Given the description of an element on the screen output the (x, y) to click on. 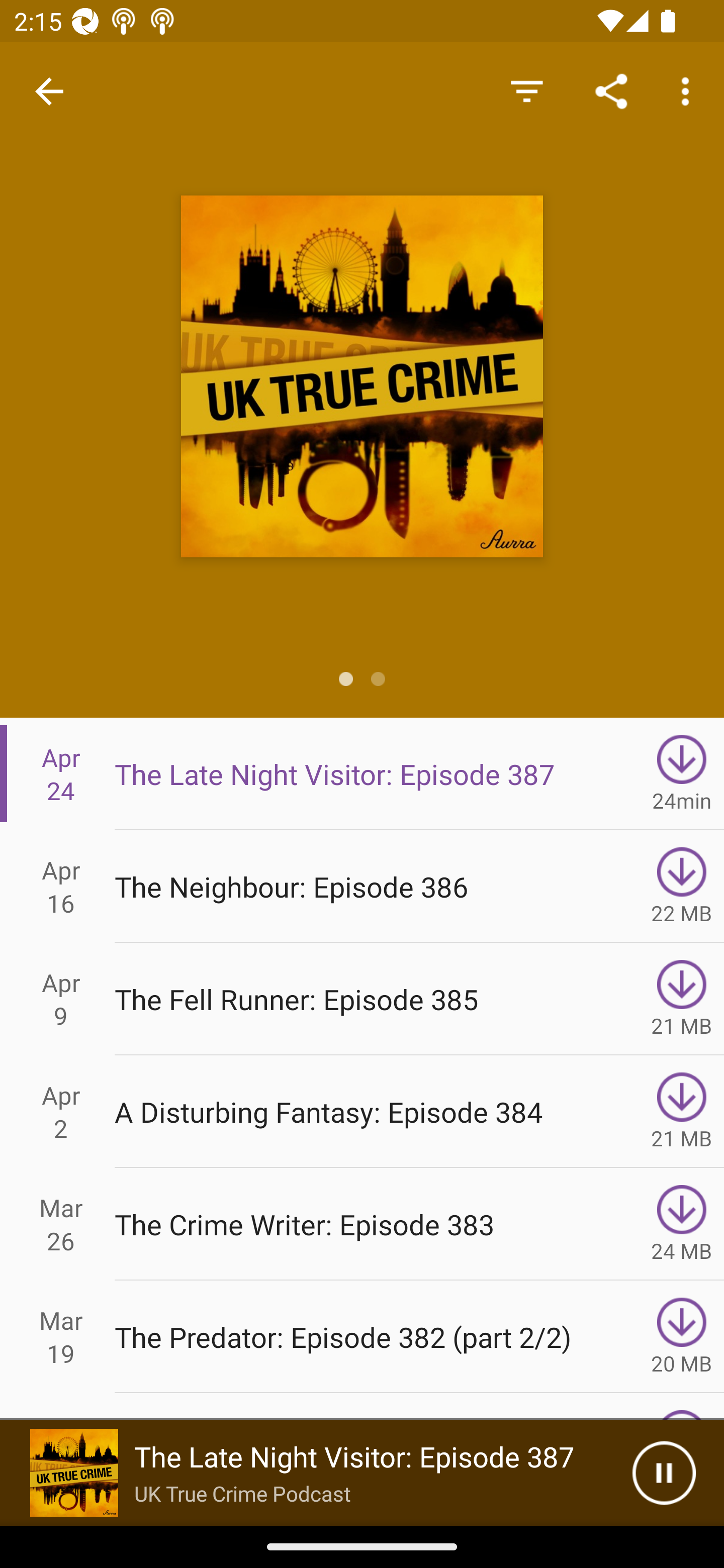
Navigate up (49, 91)
Hide Episodes (526, 90)
Share Link (611, 90)
More options (688, 90)
Download 24min (681, 773)
Apr 16 The Neighbour: Episode 386 Download 22 MB (362, 885)
Download 22 MB (681, 885)
Apr 9 The Fell Runner: Episode 385 Download 21 MB (362, 998)
Download 21 MB (681, 998)
Download 21 MB (681, 1111)
Download 24 MB (681, 1224)
Download 20 MB (681, 1336)
Pause (663, 1472)
